Given the description of an element on the screen output the (x, y) to click on. 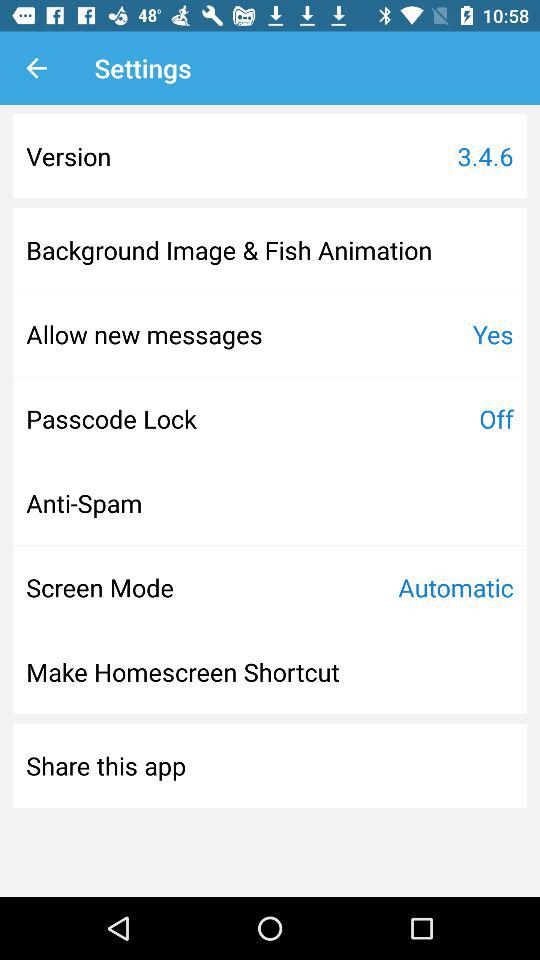
turn on item below the allow new messages icon (111, 418)
